Given the description of an element on the screen output the (x, y) to click on. 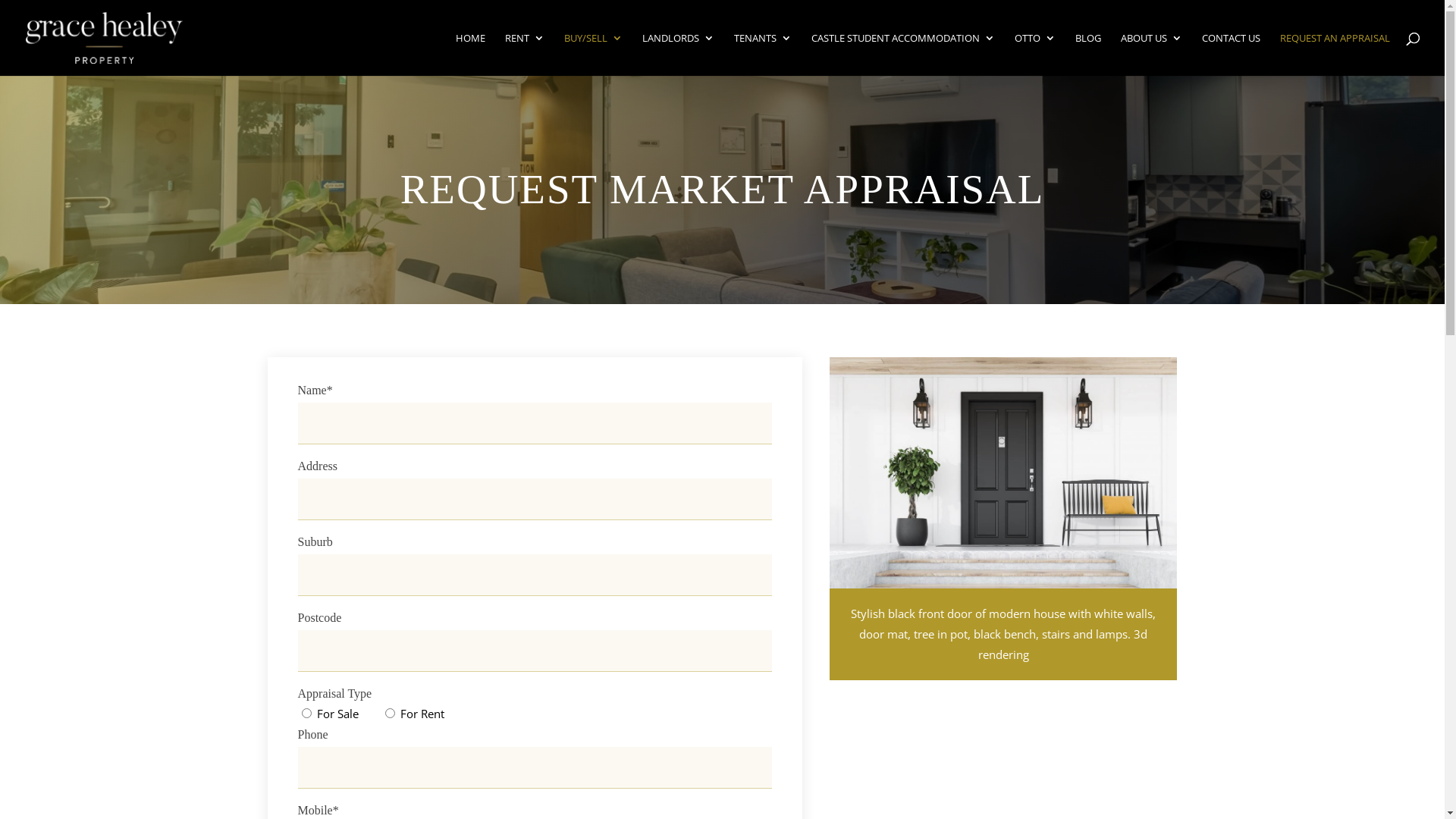
OTTO Element type: text (1034, 53)
LANDLORDS Element type: text (678, 53)
RENT Element type: text (524, 53)
BUY/SELL Element type: text (593, 53)
CONTACT US Element type: text (1230, 53)
HOME Element type: text (470, 53)
ABOUT US Element type: text (1151, 53)
TENANTS Element type: text (762, 53)
CASTLE STUDENT ACCOMMODATION Element type: text (902, 53)
BLOG Element type: text (1088, 53)
REQUEST AN APPRAISAL Element type: text (1335, 53)
